Given the description of an element on the screen output the (x, y) to click on. 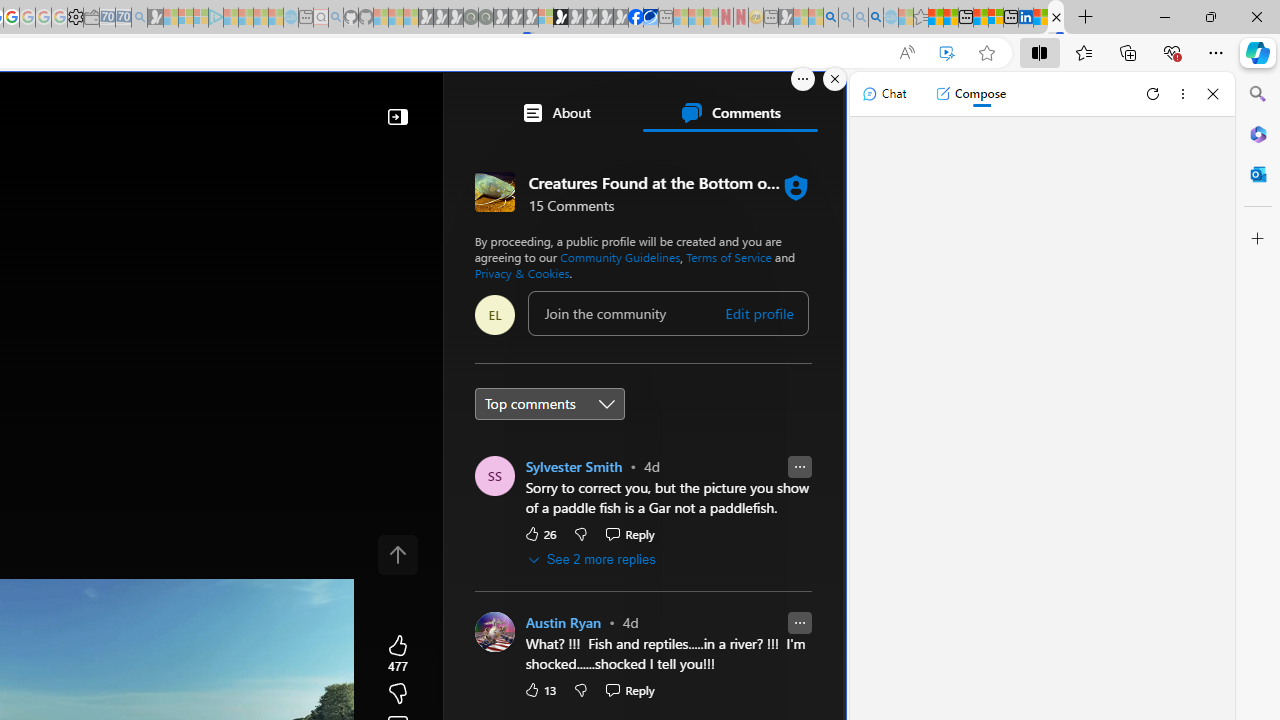
Close split screen. (835, 79)
Sign in to your account - Sleeping (545, 17)
Sylvester Smith (573, 465)
Profile Picture (493, 632)
CNN (545, 645)
Profile Picture (493, 632)
